Given the description of an element on the screen output the (x, y) to click on. 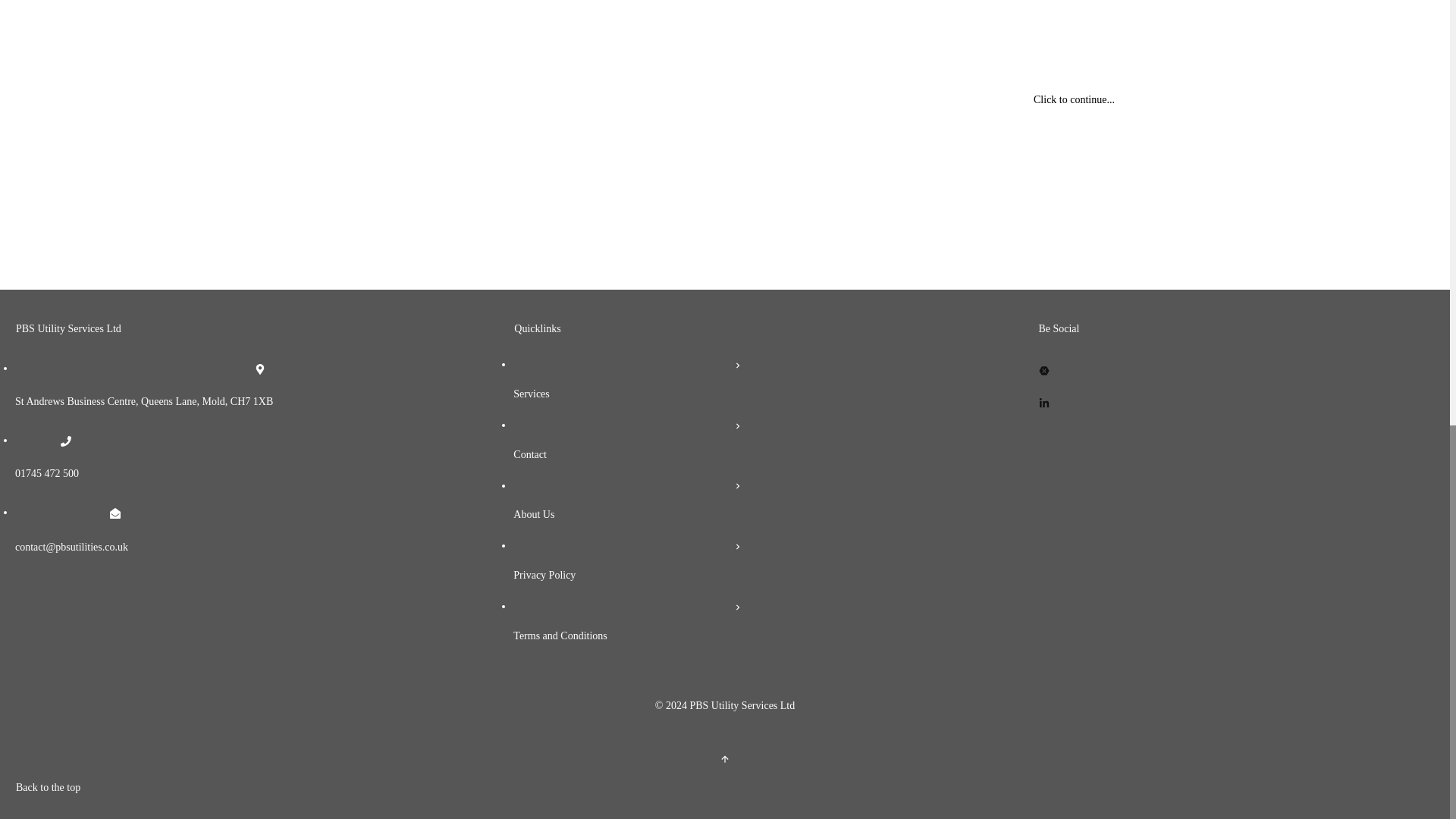
Back to the top (725, 758)
ncs (469, 42)
